Given the description of an element on the screen output the (x, y) to click on. 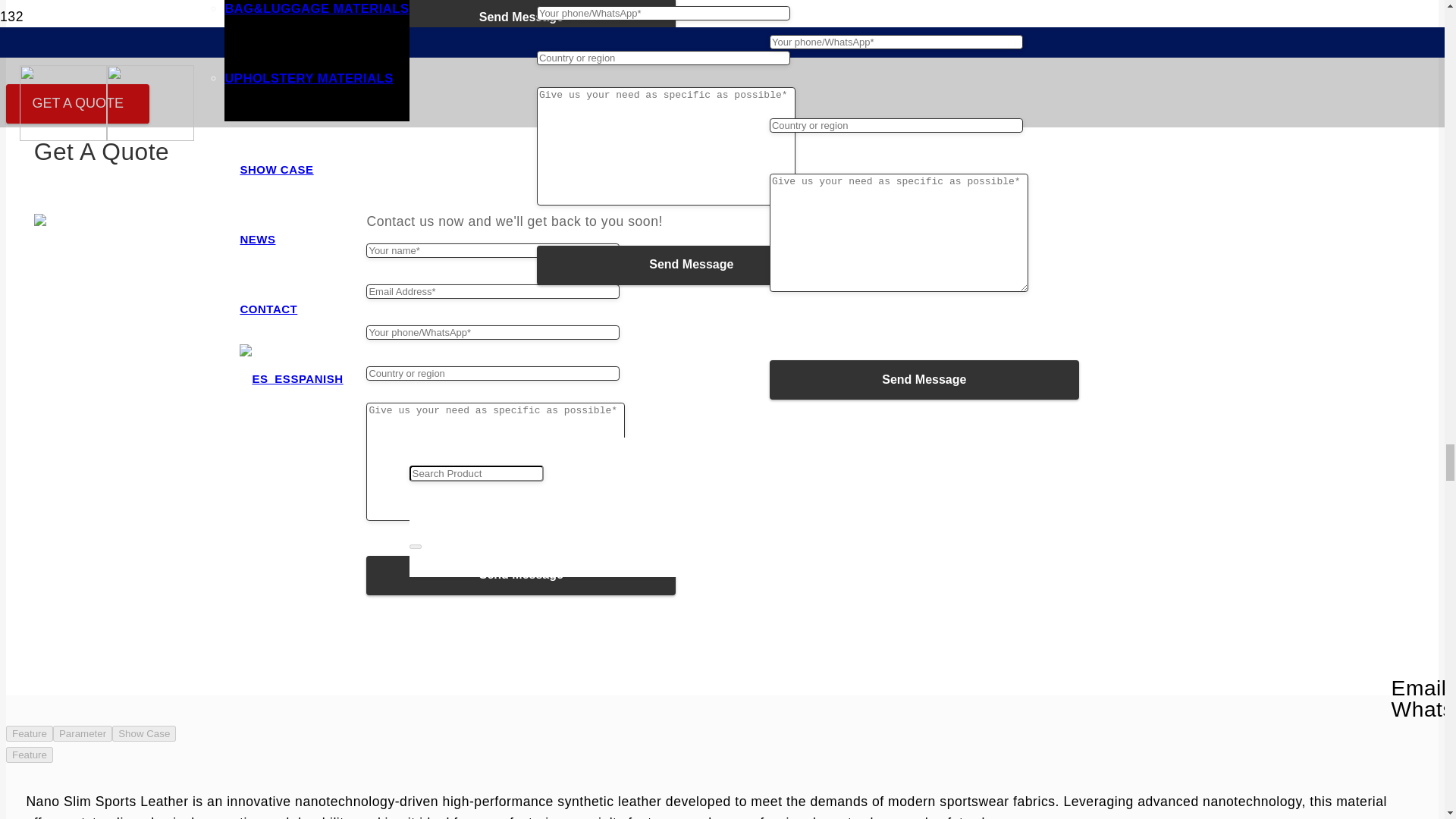
Feature (28, 754)
Send Message (520, 18)
Send Message (520, 18)
Send Message (520, 575)
Parameter (82, 733)
Send Message (520, 575)
GET A QUOTE (77, 104)
Feature (28, 733)
Show Case (144, 733)
